Given the description of an element on the screen output the (x, y) to click on. 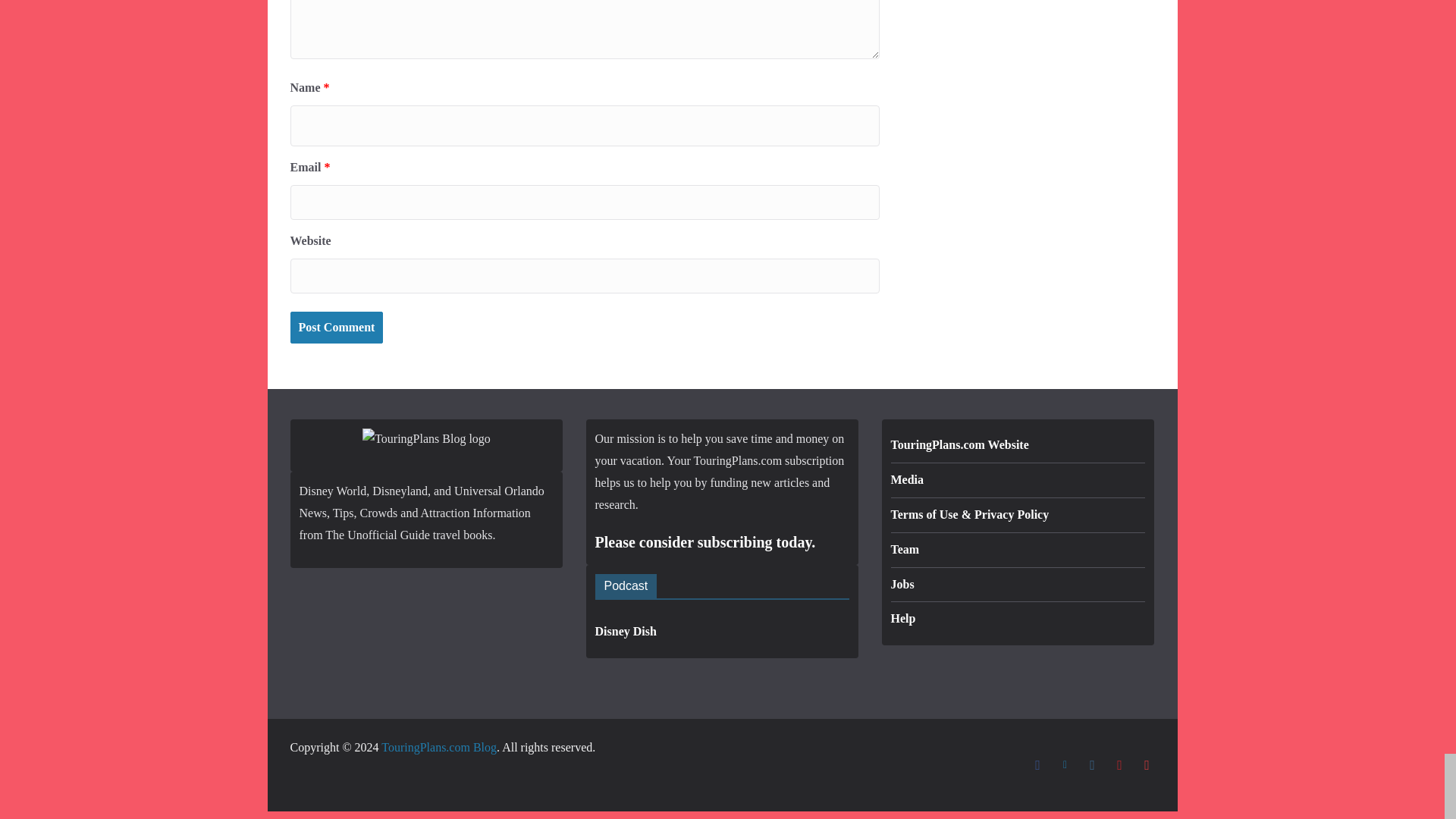
Post Comment (335, 327)
TouringPlans.com Blog (438, 747)
